Given the description of an element on the screen output the (x, y) to click on. 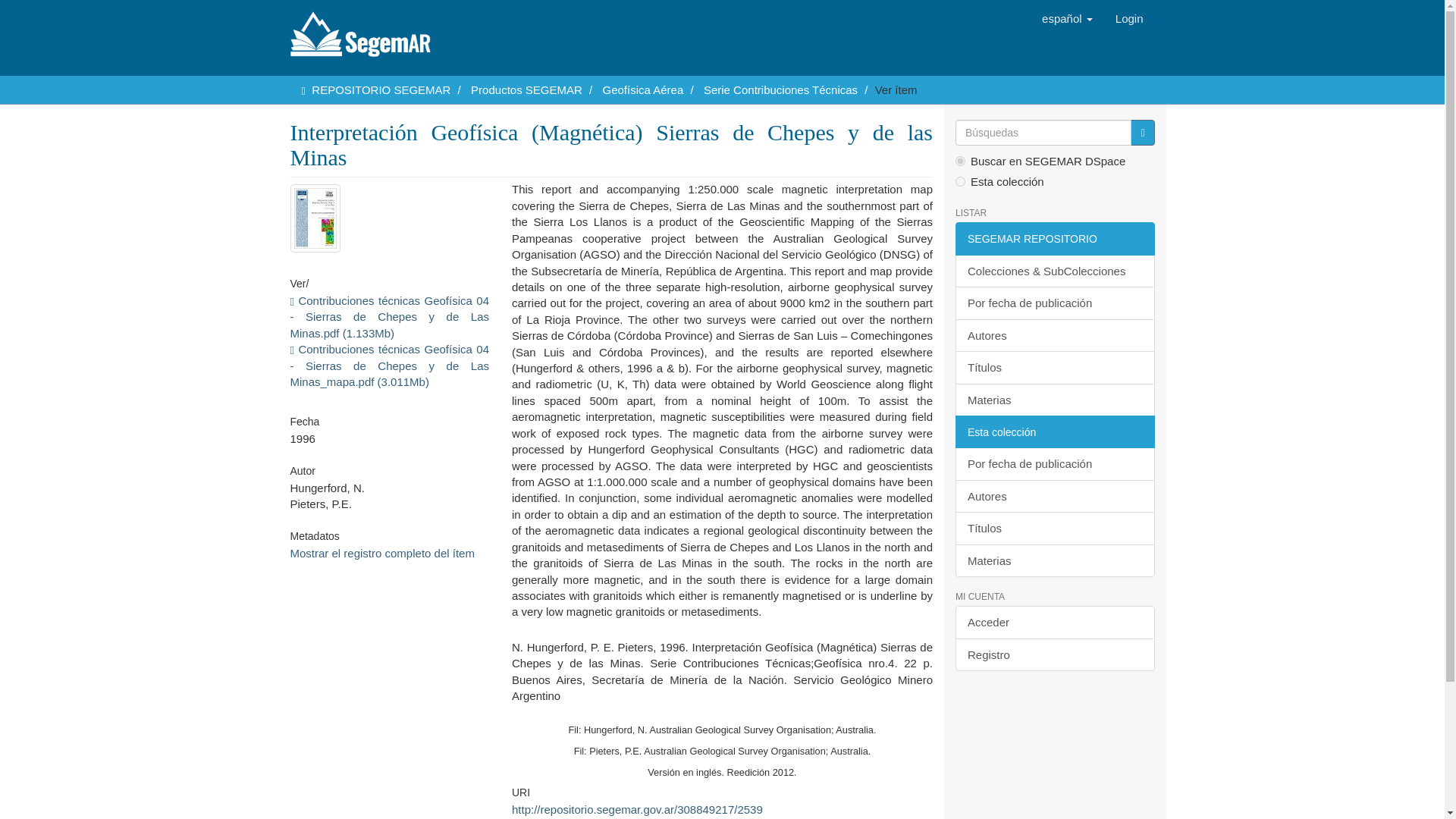
Ir (1142, 132)
Productos SEGEMAR (526, 89)
REPOSITORIO SEGEMAR (380, 89)
Login (1128, 18)
SEGEMAR REPOSITORIO (1054, 237)
